Given the description of an element on the screen output the (x, y) to click on. 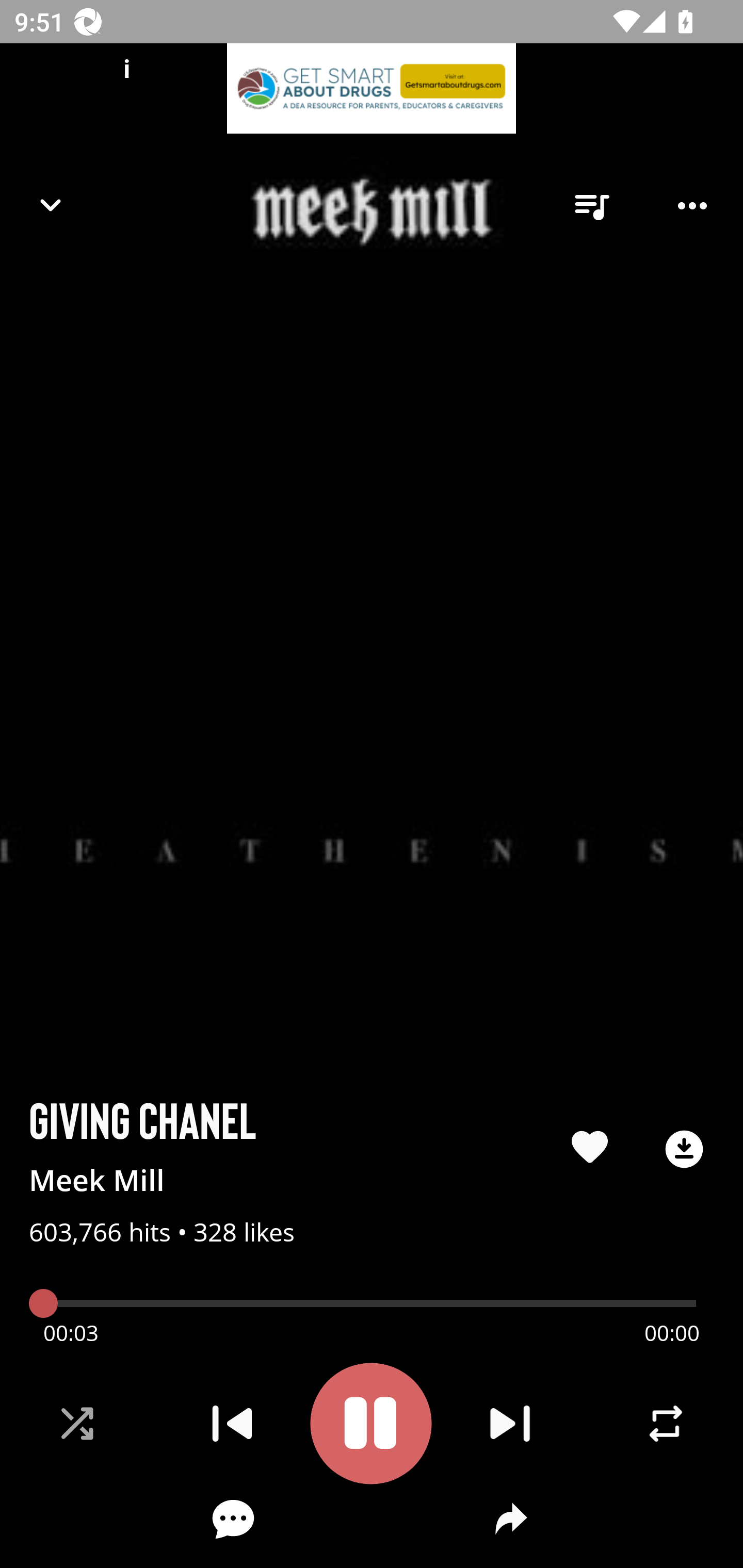
Navigate up (50, 205)
queue (590, 206)
Player options (692, 206)
